Given the description of an element on the screen output the (x, y) to click on. 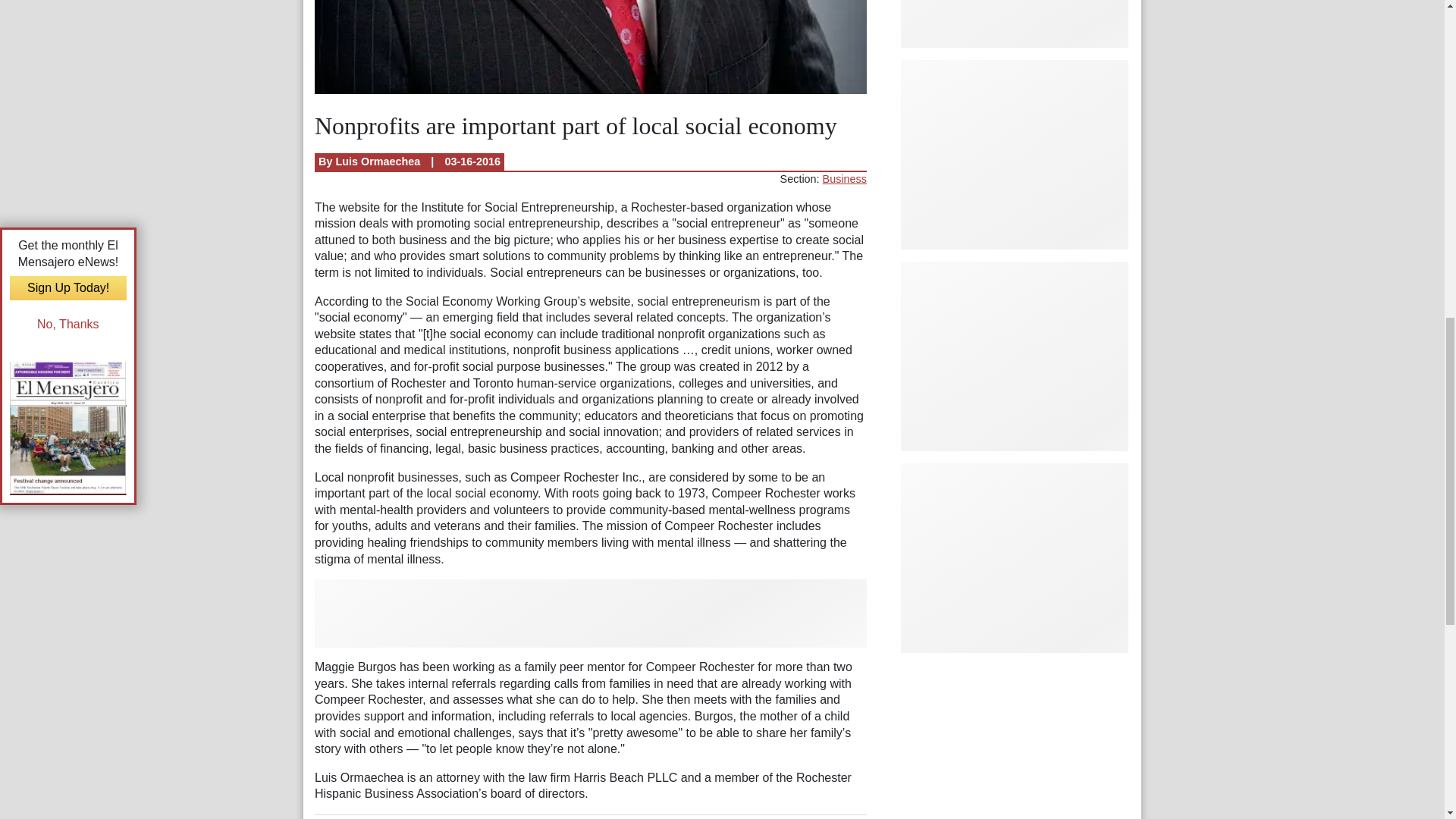
3rd party ad content (1014, 557)
Business (844, 178)
